Given the description of an element on the screen output the (x, y) to click on. 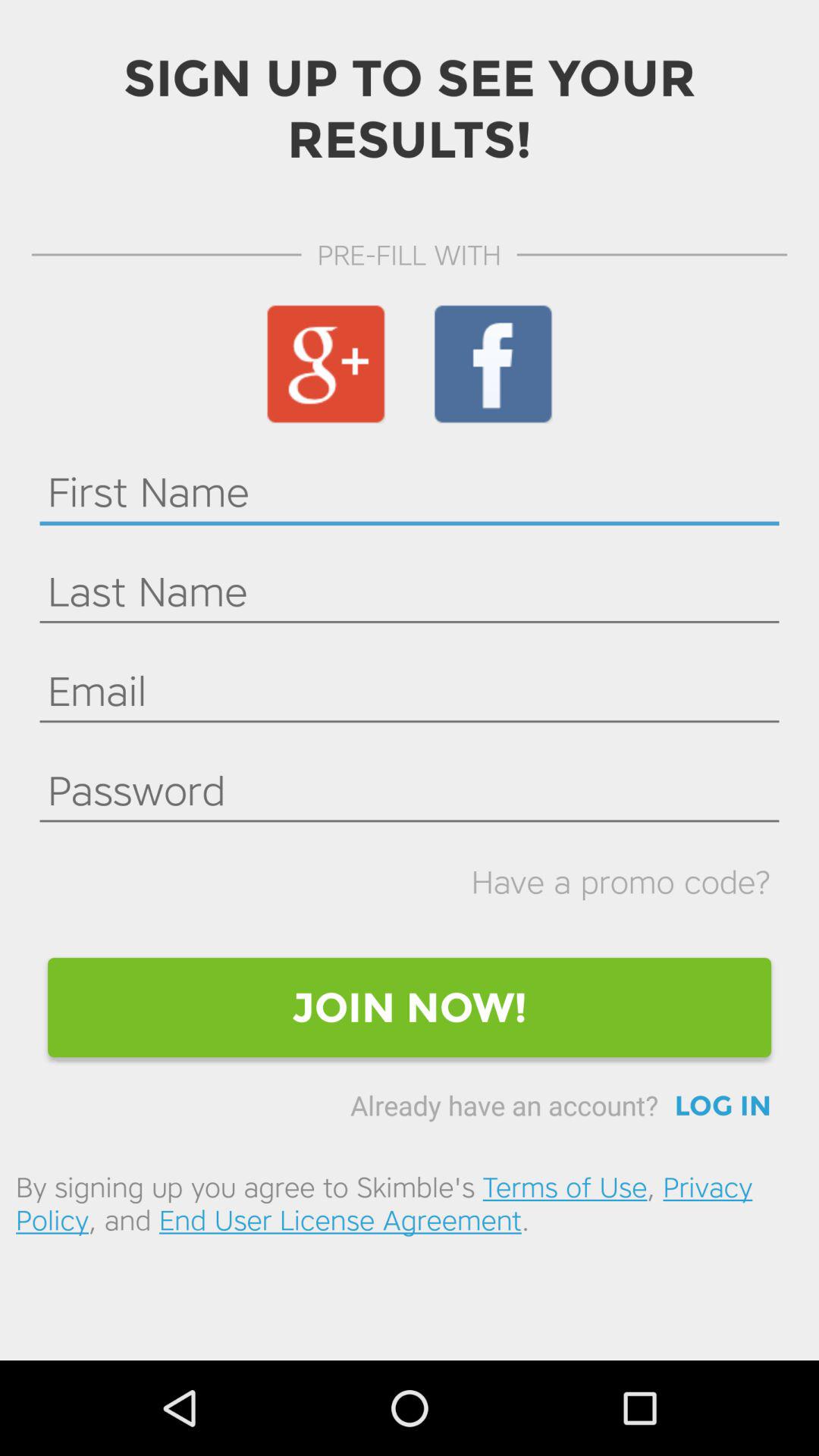
select the item above the log in (409, 1007)
